Given the description of an element on the screen output the (x, y) to click on. 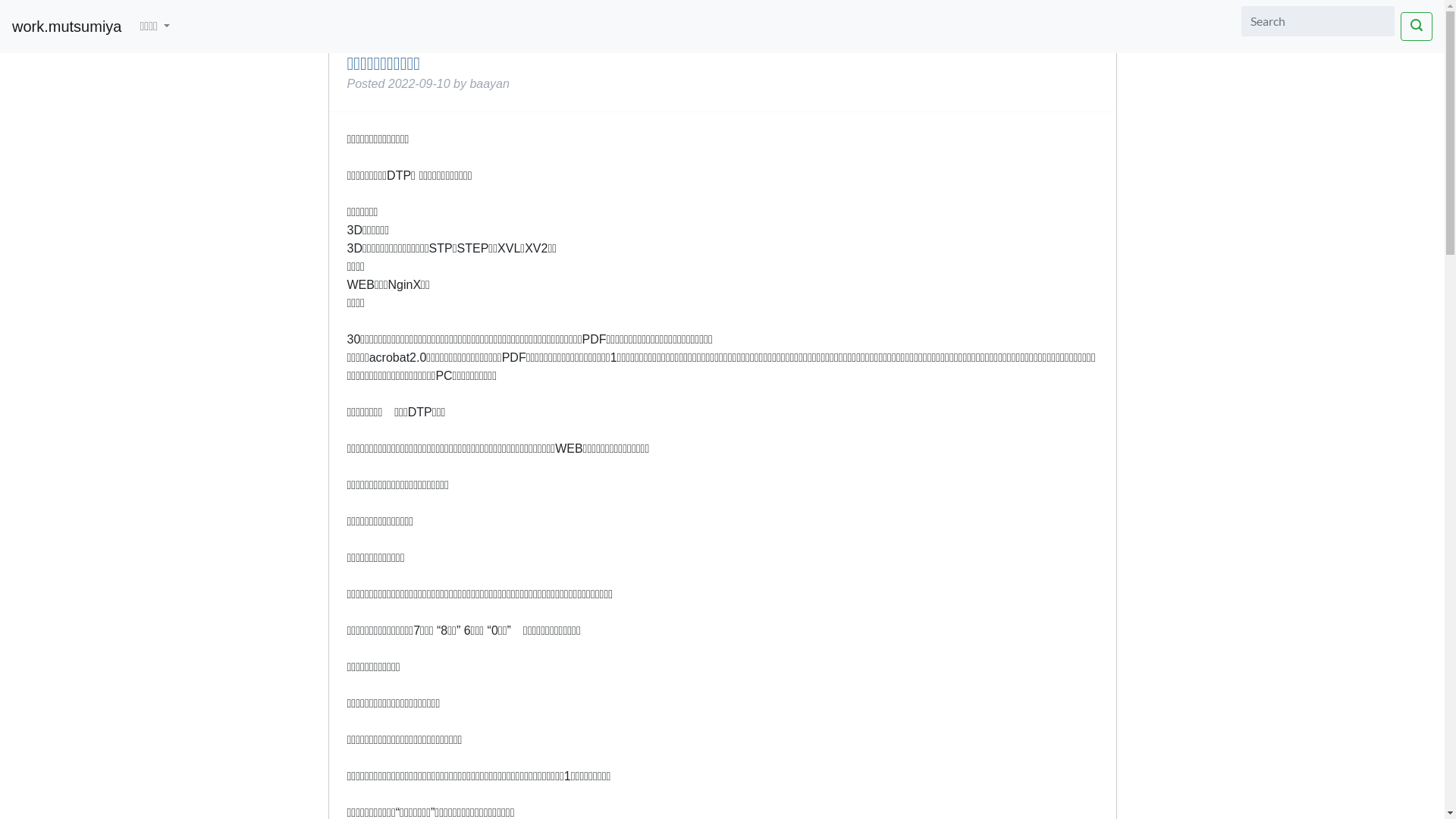
Search for: Element type: hover (1317, 21)
work.mutsumiya Element type: text (66, 26)
